Given the description of an element on the screen output the (x, y) to click on. 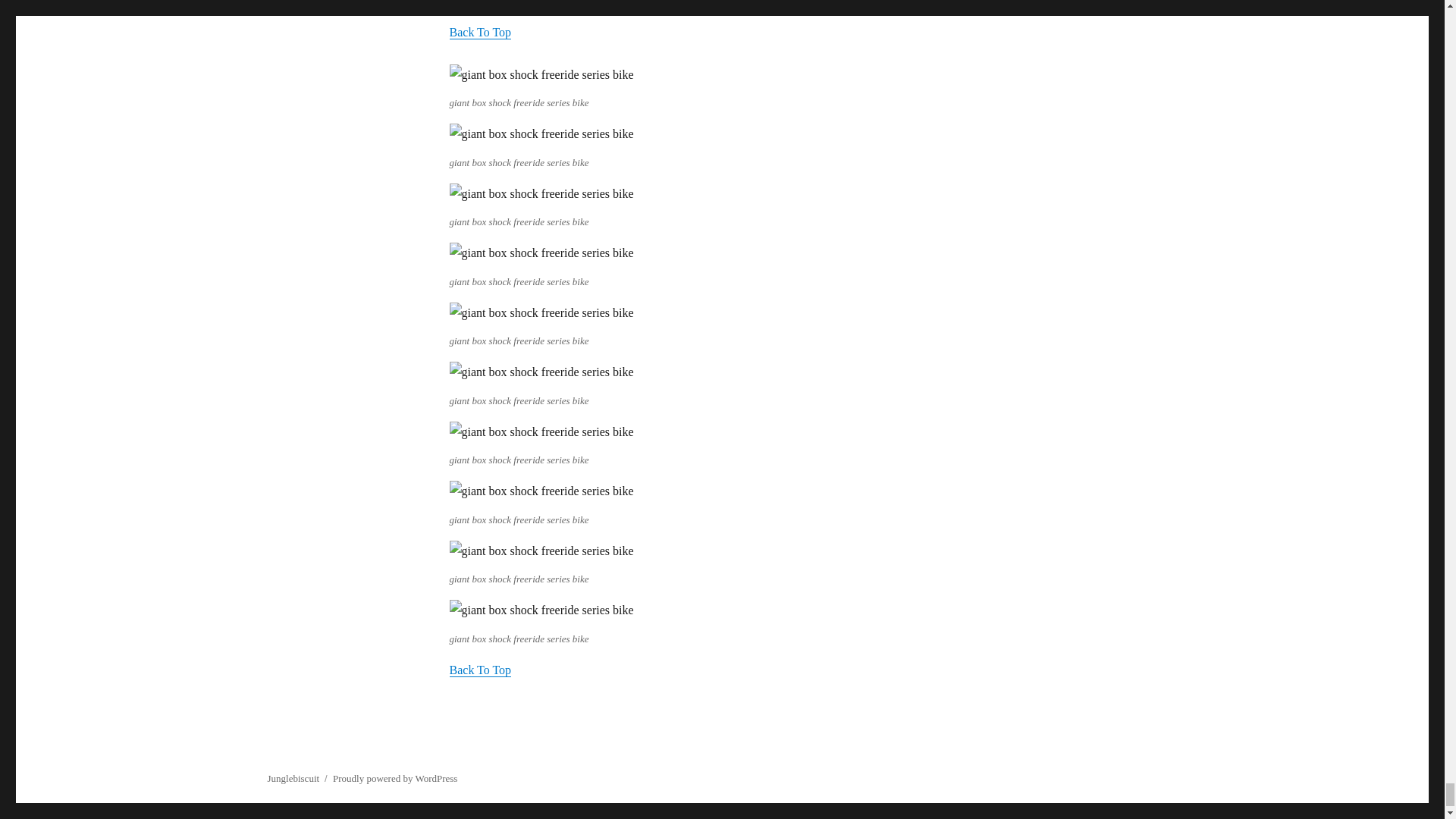
Back To Top (479, 31)
